Given the description of an element on the screen output the (x, y) to click on. 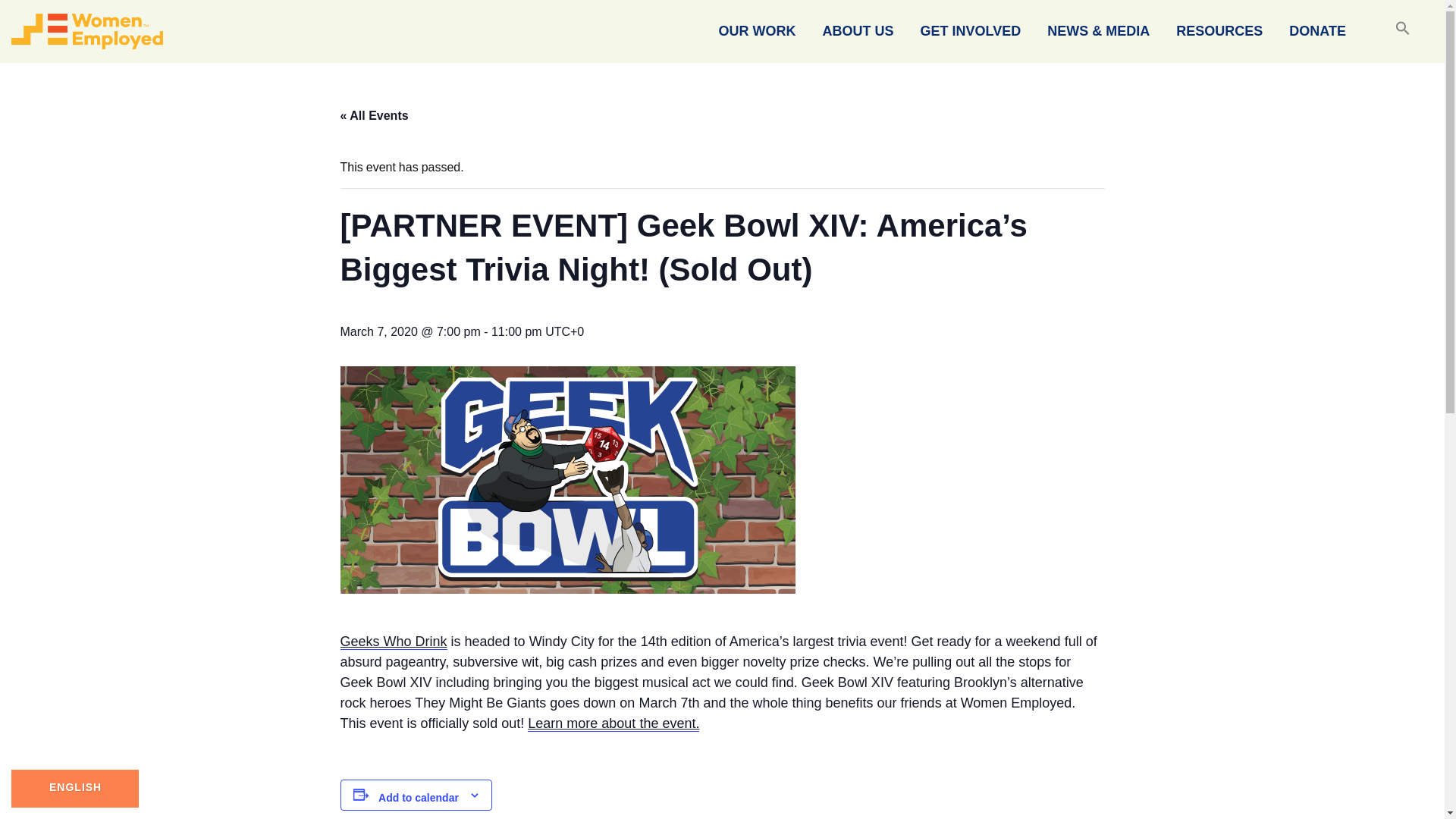
GET INVOLVED (970, 31)
ABOUT US (857, 31)
OUR WORK (757, 31)
